Given the description of an element on the screen output the (x, y) to click on. 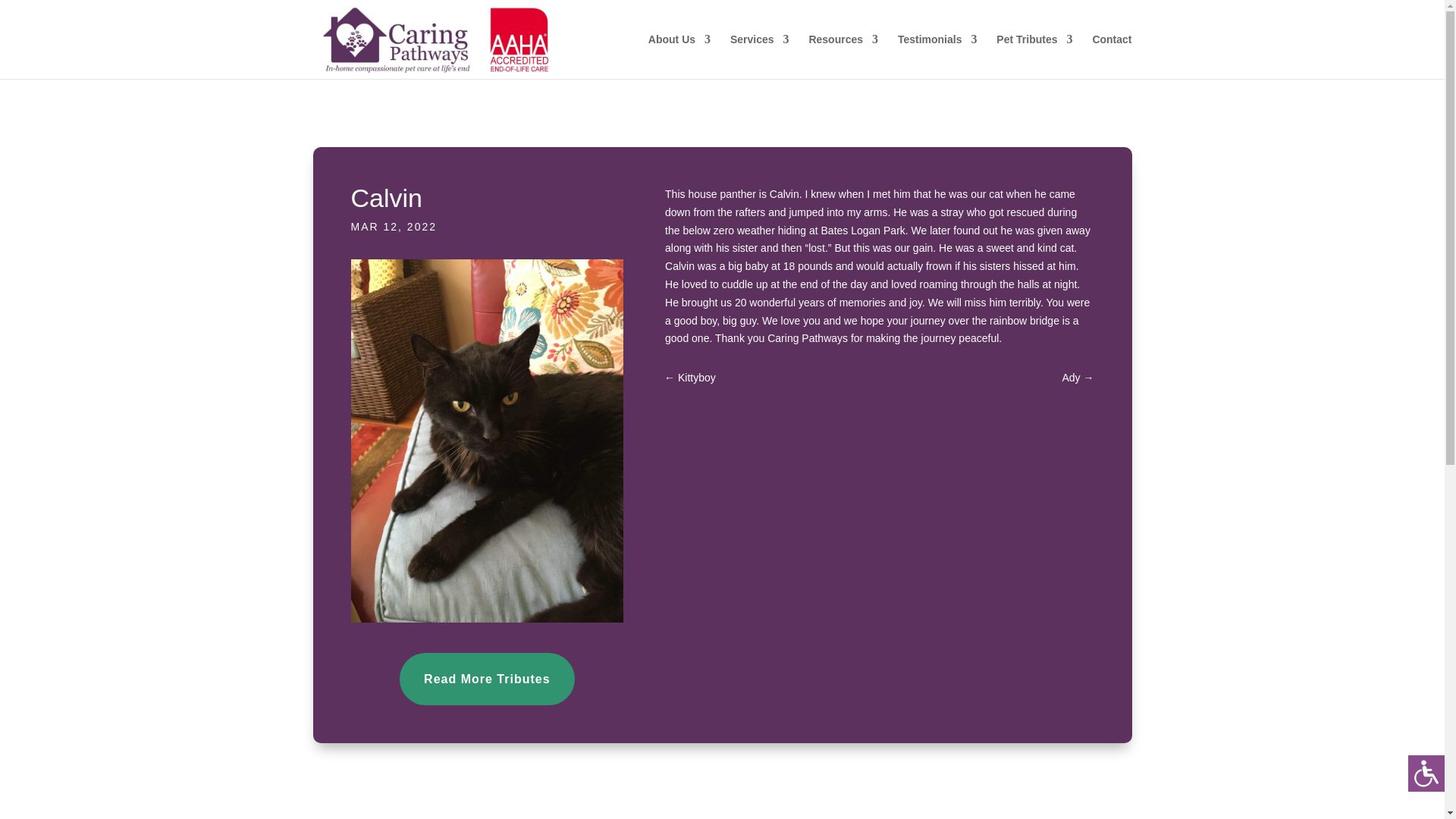
Testimonials (937, 56)
Pet Tributes (1033, 56)
Resources (842, 56)
About Us (678, 56)
Services (759, 56)
